Given the description of an element on the screen output the (x, y) to click on. 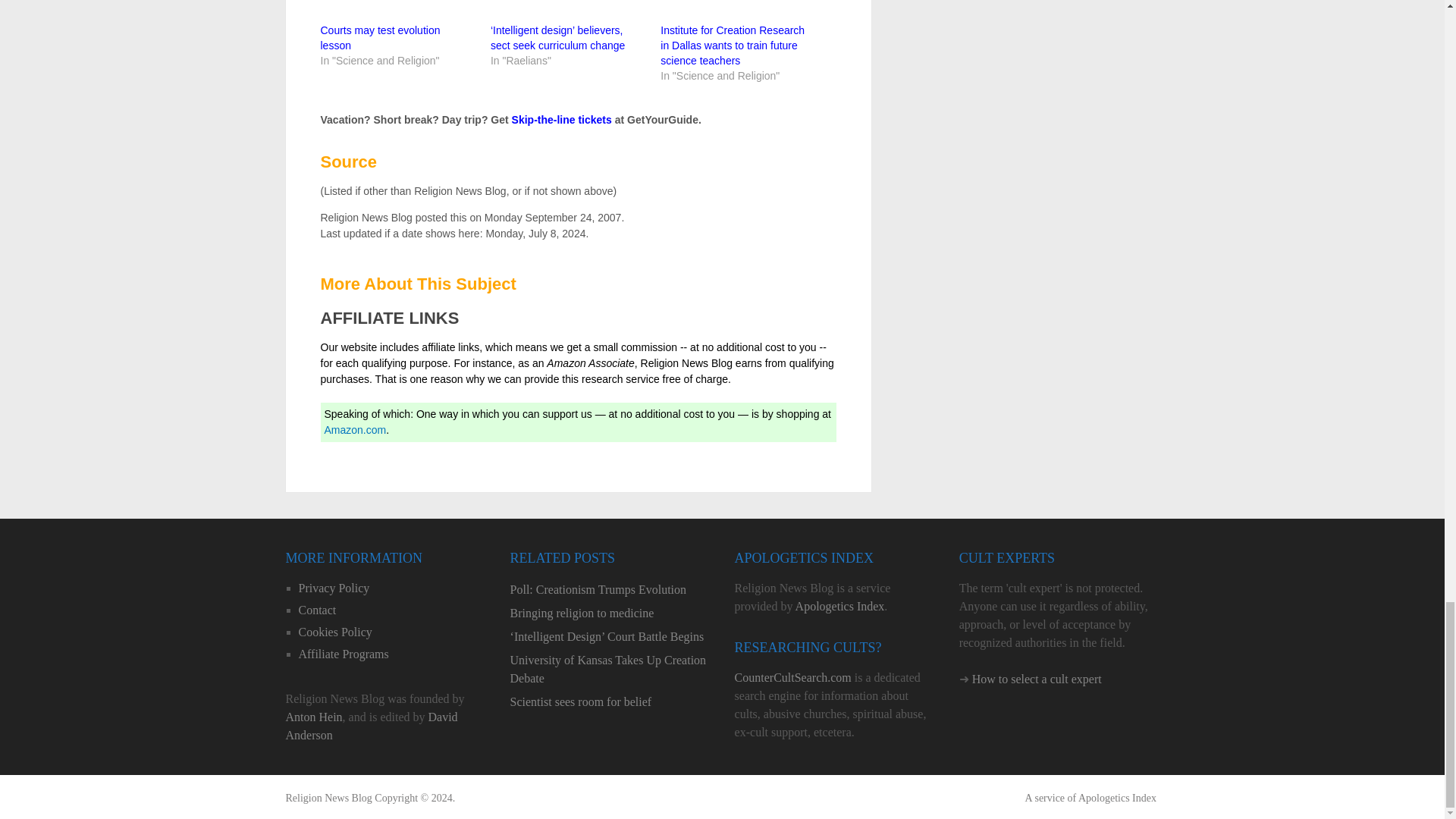
Amazon.com (355, 429)
Courts may test evolution lesson (379, 37)
Skip-the-line tickets (561, 119)
 Religion news: religious cults, sects, and world religions (328, 797)
Bringing religion to medicine (610, 613)
Poll: Creationism Trumps Evolution (610, 589)
University of Kansas Takes Up Creation Debate (610, 669)
Privacy Policy (333, 587)
Scientist sees room for belief (610, 701)
Courts may test evolution lesson (379, 37)
